Given the description of an element on the screen output the (x, y) to click on. 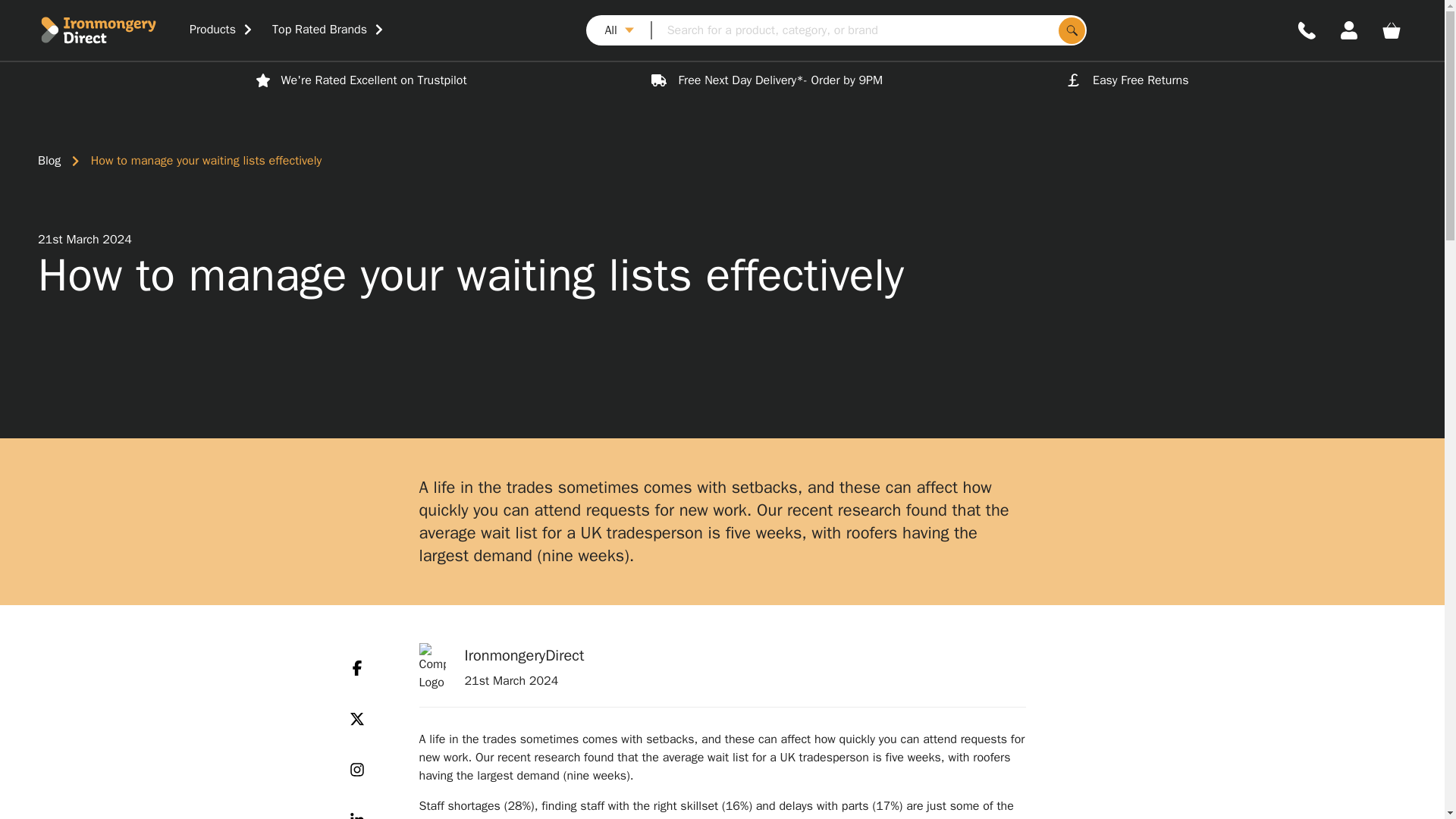
We're Rated Excellent on Trustpilot (361, 80)
Account (1348, 30)
Share on Facebook (355, 667)
Basket (1390, 30)
Search (1071, 29)
Blog (49, 160)
IronmongeryDirect (113, 30)
Visit us on Instagram (355, 768)
Share on LinkedIn (355, 812)
Contact Us (1306, 30)
Share on X (355, 718)
